Given the description of an element on the screen output the (x, y) to click on. 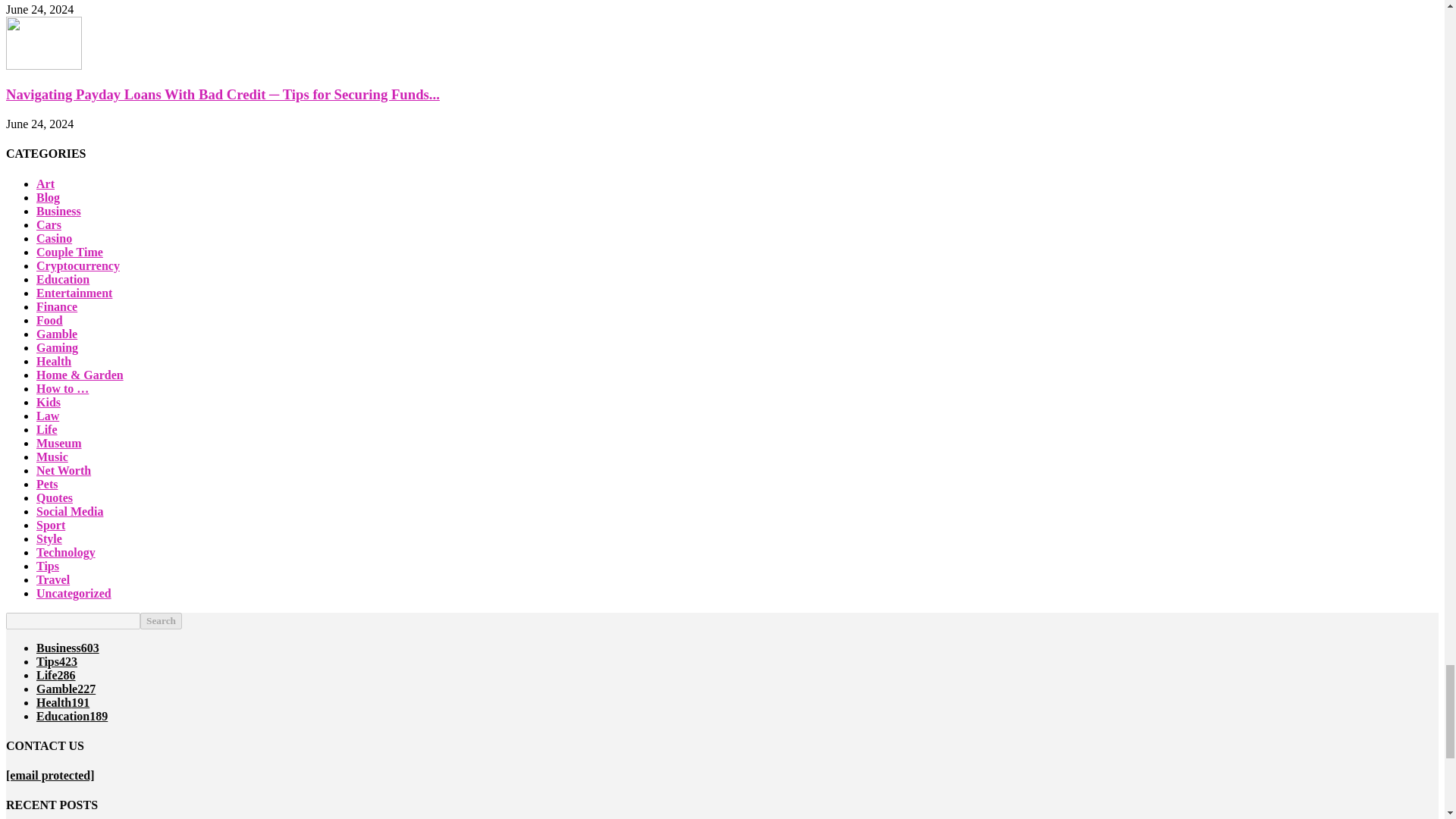
Search (160, 620)
